Given the description of an element on the screen output the (x, y) to click on. 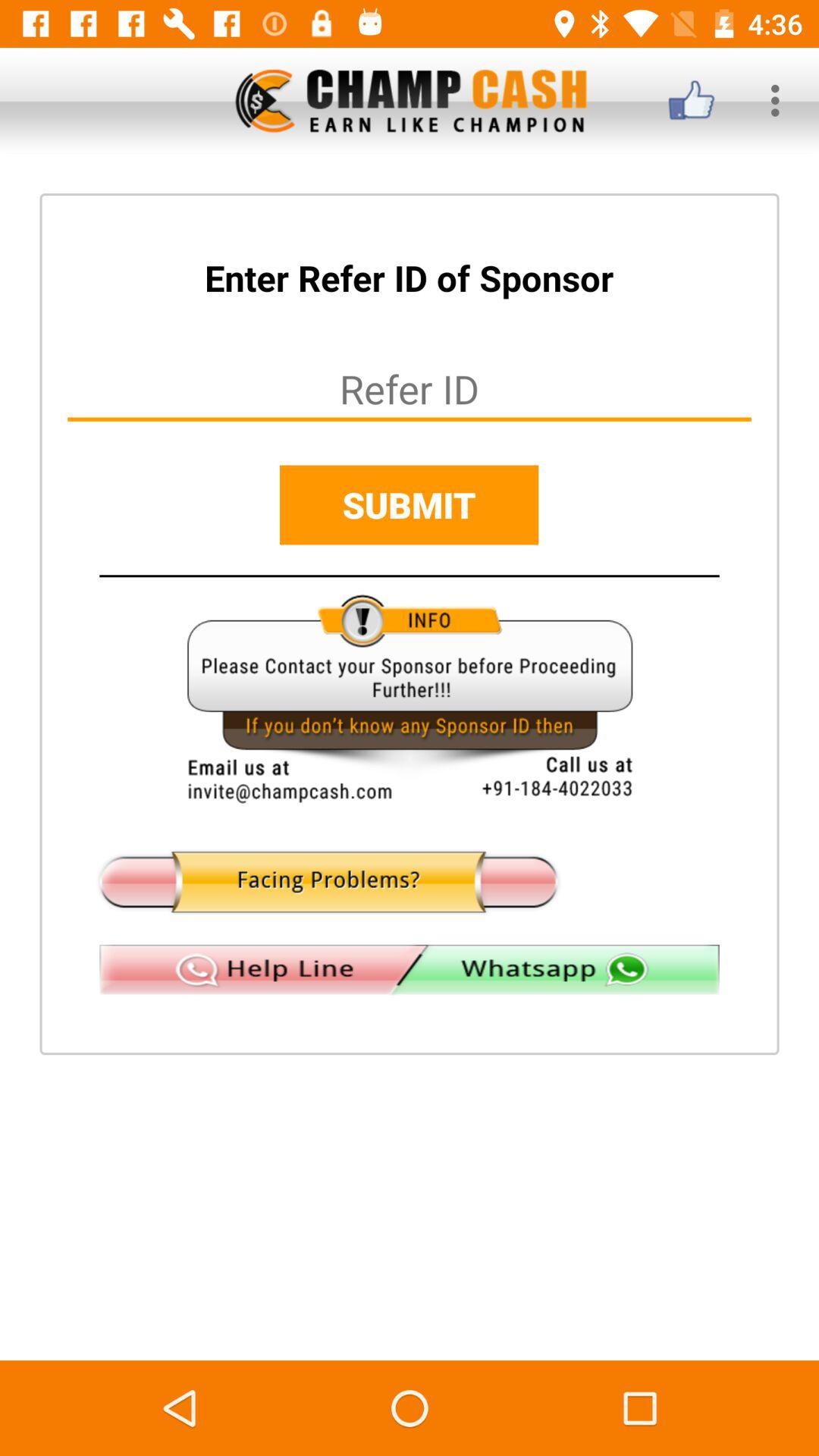
enter refer id (409, 388)
